Given the description of an element on the screen output the (x, y) to click on. 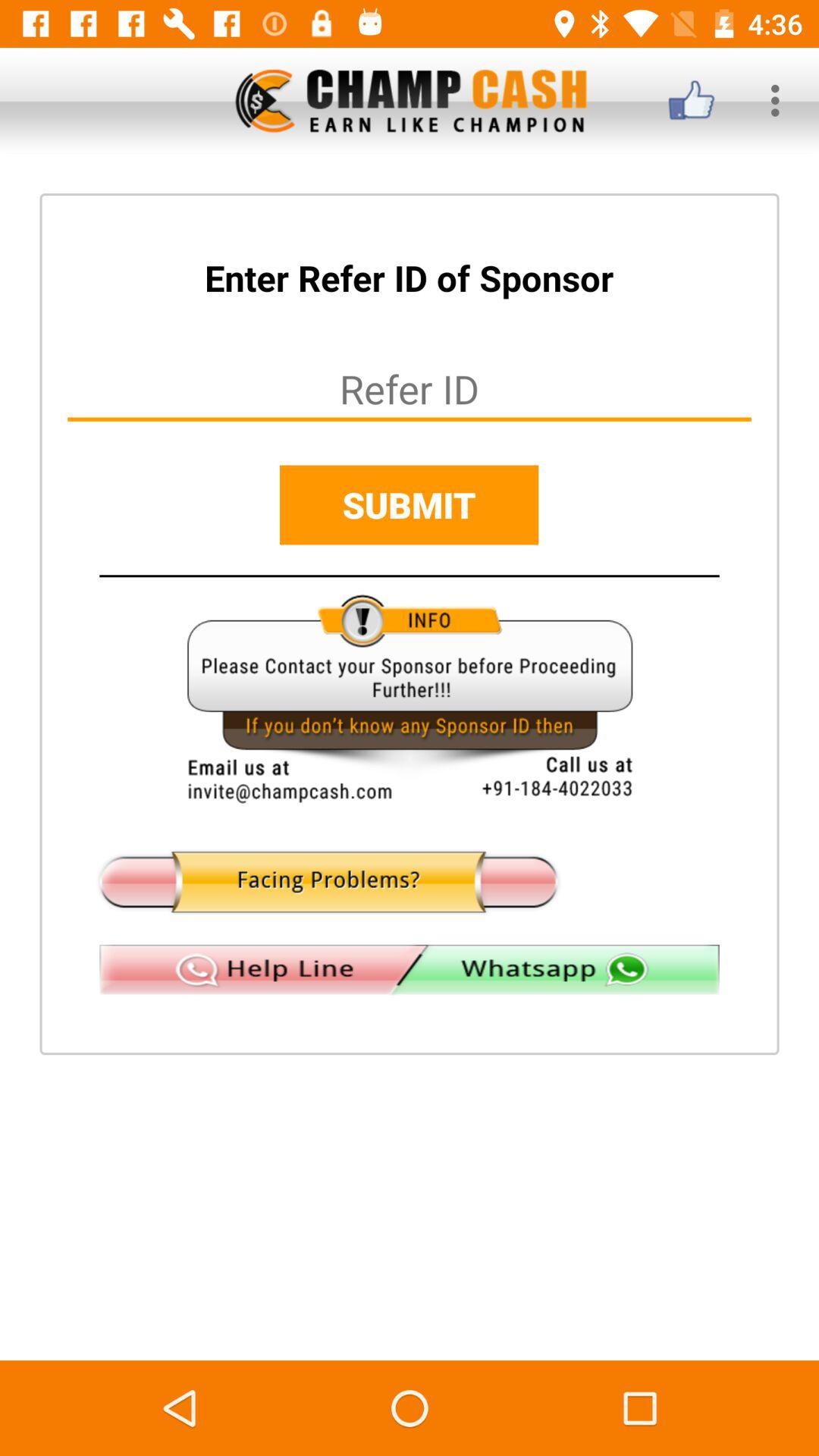
enter refer id (409, 388)
